Given the description of an element on the screen output the (x, y) to click on. 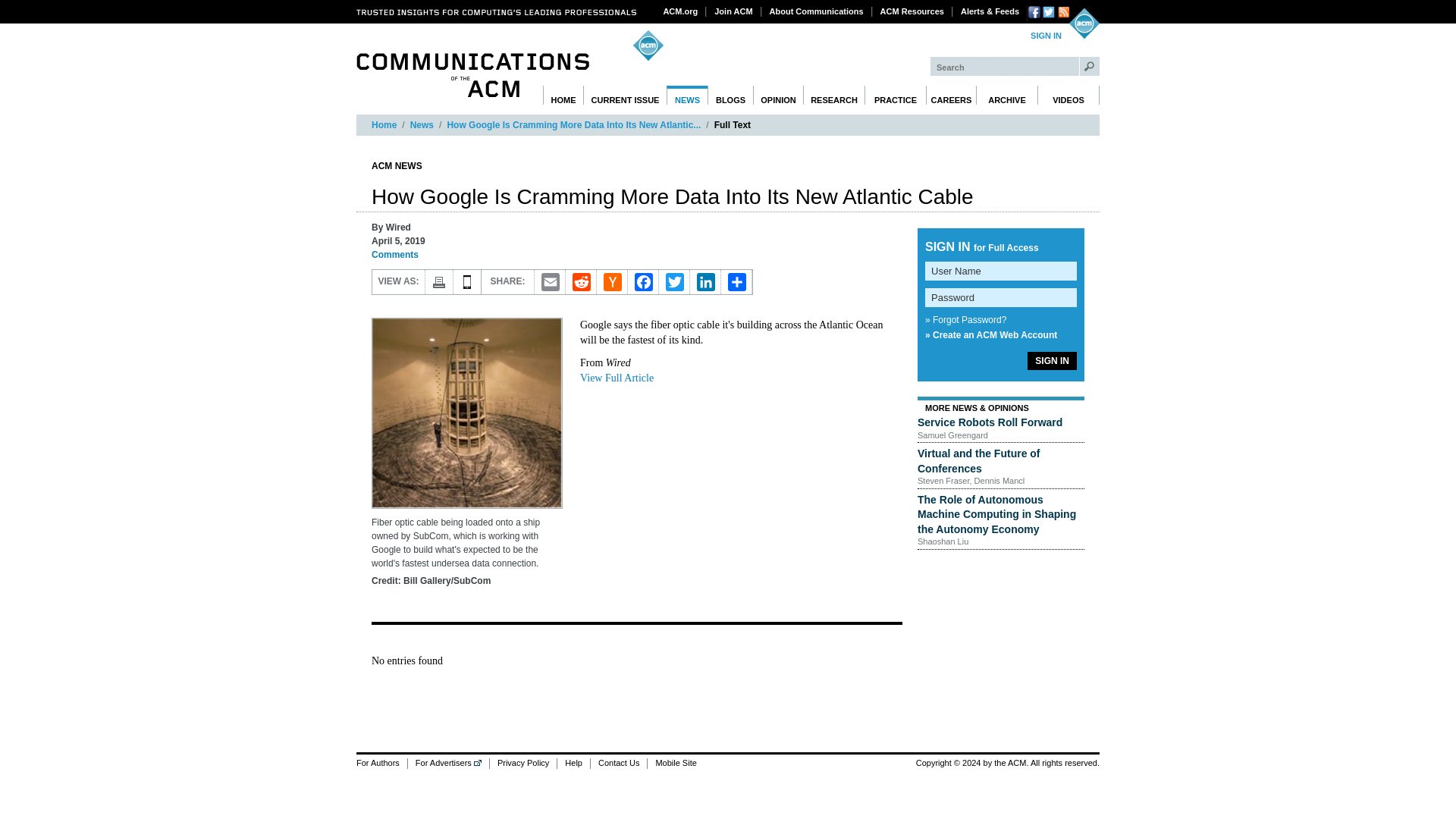
Communications of the ACM (472, 75)
SIGN IN (1045, 35)
Login (1045, 35)
CURRENT ISSUE (624, 94)
ACM Resources (912, 11)
For Authors (381, 763)
ACM.org (680, 11)
ACM Resources (912, 11)
MOBILE APPS (466, 282)
ACM.org (680, 11)
Help (572, 763)
Privacy Policy (522, 763)
HOME (563, 94)
Contact Us (617, 763)
NEWS (686, 94)
